Given the description of an element on the screen output the (x, y) to click on. 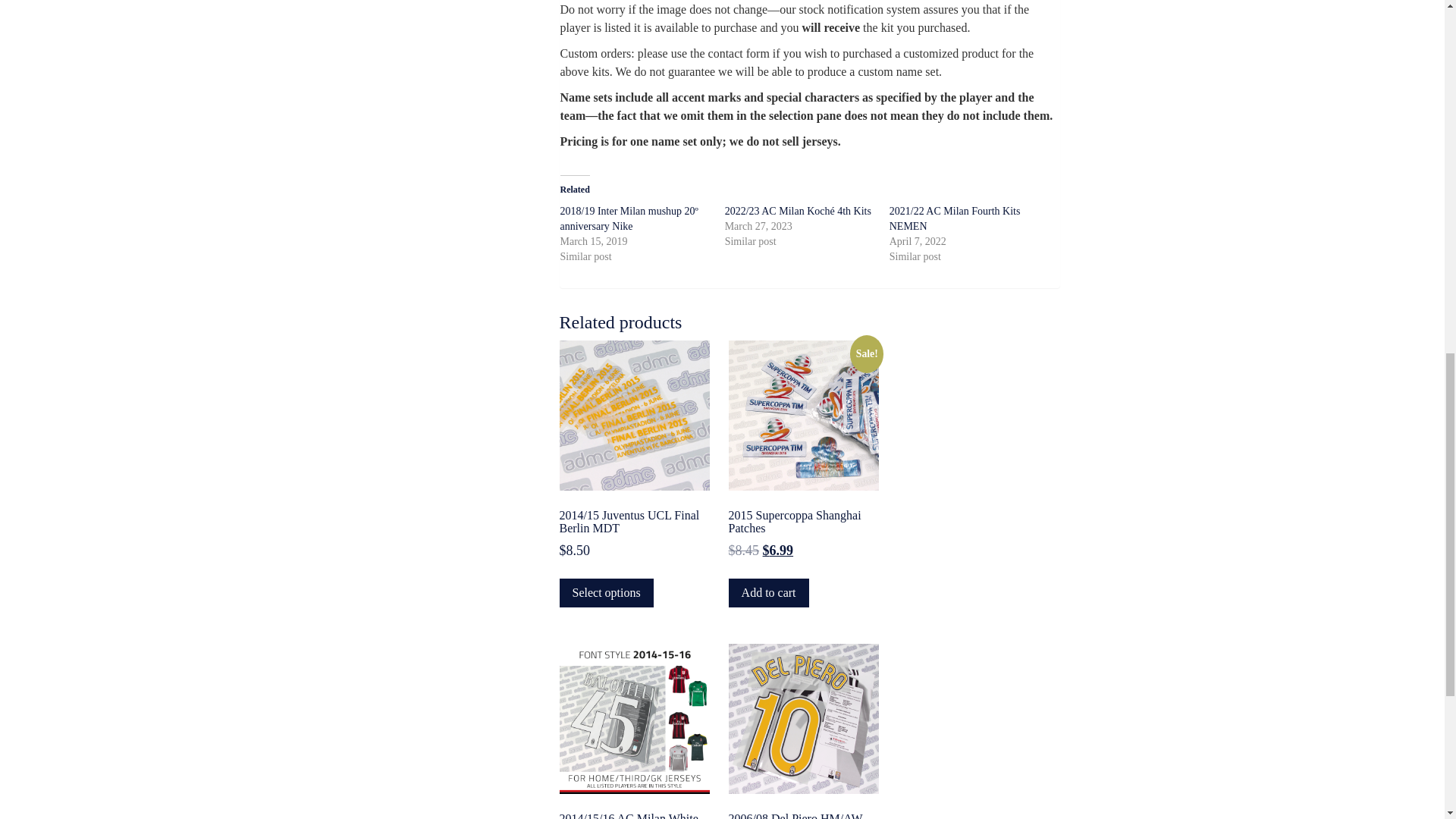
Select options (606, 592)
Add to cart (769, 592)
